Given the description of an element on the screen output the (x, y) to click on. 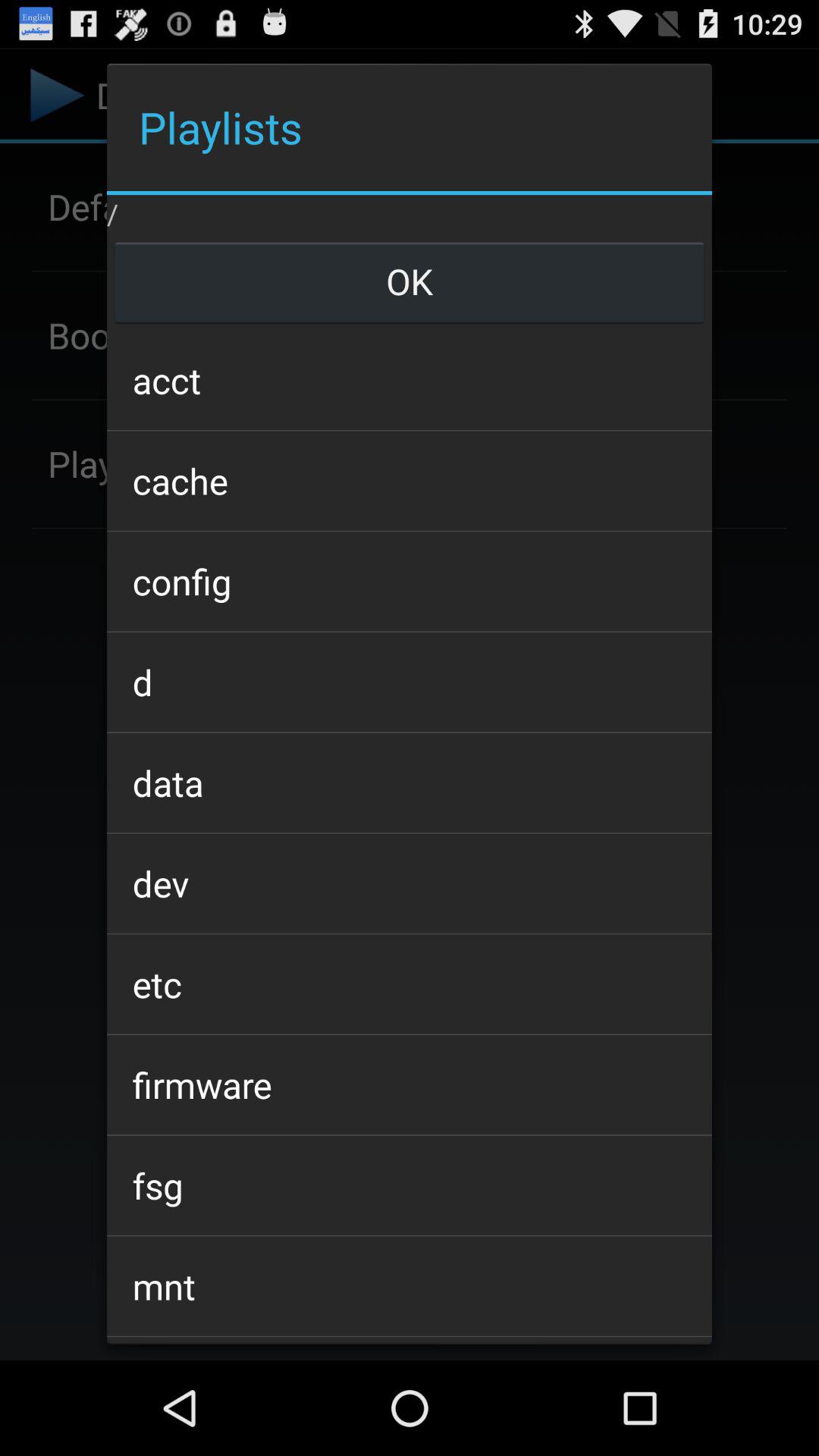
turn off the item above the cache icon (409, 379)
